Given the description of an element on the screen output the (x, y) to click on. 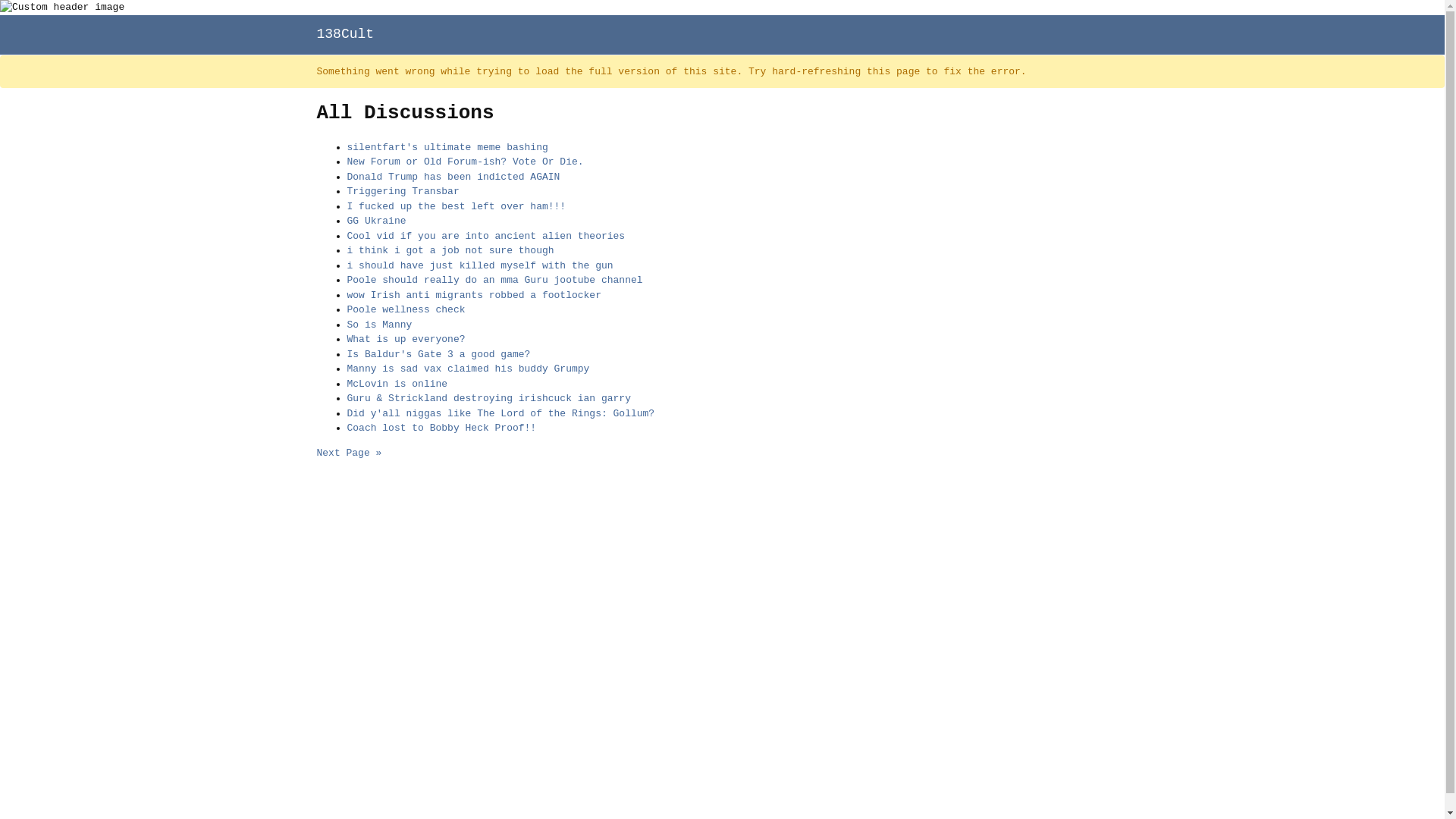
Is Baldur's Gate 3 a good game? Element type: text (438, 354)
What is up everyone? Element type: text (406, 339)
So is Manny Element type: text (379, 324)
New Forum or Old Forum-ish? Vote Or Die. Element type: text (465, 161)
Manny is sad vax claimed his buddy Grumpy Element type: text (468, 368)
Donald Trump has been indicted AGAIN Element type: text (453, 176)
Guru & Strickland destroying irishcuck ian garry Element type: text (488, 398)
Poole wellness check Element type: text (406, 309)
GG Ukraine Element type: text (376, 220)
I fucked up the best left over ham!!! Element type: text (456, 206)
McLovin is online Element type: text (397, 383)
138Cult Element type: text (345, 32)
silentfart's ultimate meme bashing Element type: text (447, 147)
Coach lost to Bobby Heck Proof!! Element type: text (441, 427)
Poole should really do an mma Guru jootube channel Element type: text (495, 279)
i think i got a job not sure though Element type: text (450, 250)
Did y'all niggas like The Lord of the Rings: Gollum? Element type: text (501, 413)
i should have just killed myself with the gun Element type: text (480, 265)
Cool vid if you are into ancient alien theories Element type: text (486, 235)
wow Irish anti migrants robbed a footlocker Element type: text (474, 295)
Triggering Transbar Element type: text (403, 191)
